Given the description of an element on the screen output the (x, y) to click on. 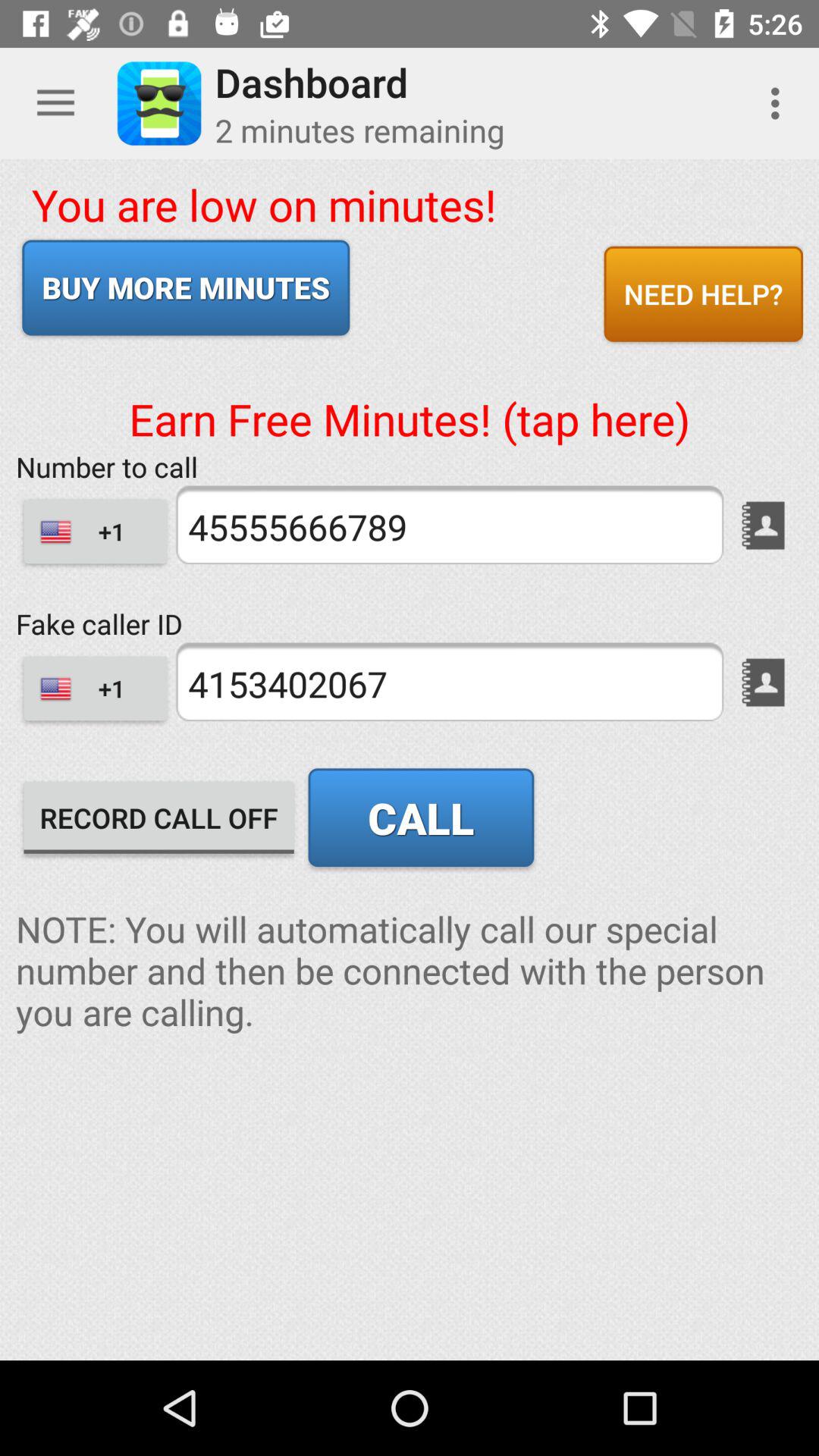
open item to the left of need help? item (185, 287)
